Given the description of an element on the screen output the (x, y) to click on. 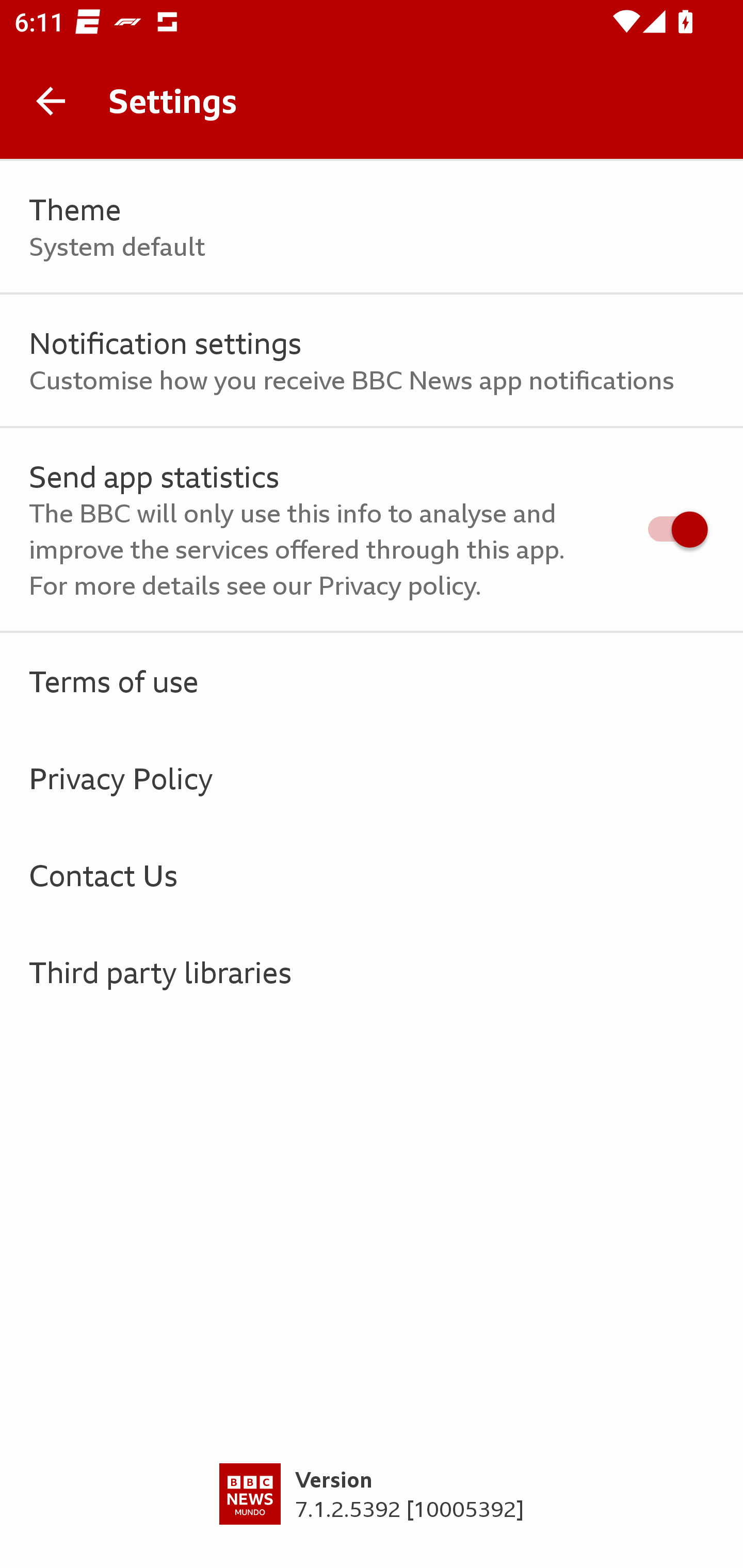
Back (50, 101)
Theme System default (371, 227)
Terms of use (371, 681)
Privacy Policy (371, 777)
Contact Us (371, 874)
Third party libraries (371, 971)
Version 7.1.2.5392 [10005392] (371, 1515)
